Given the description of an element on the screen output the (x, y) to click on. 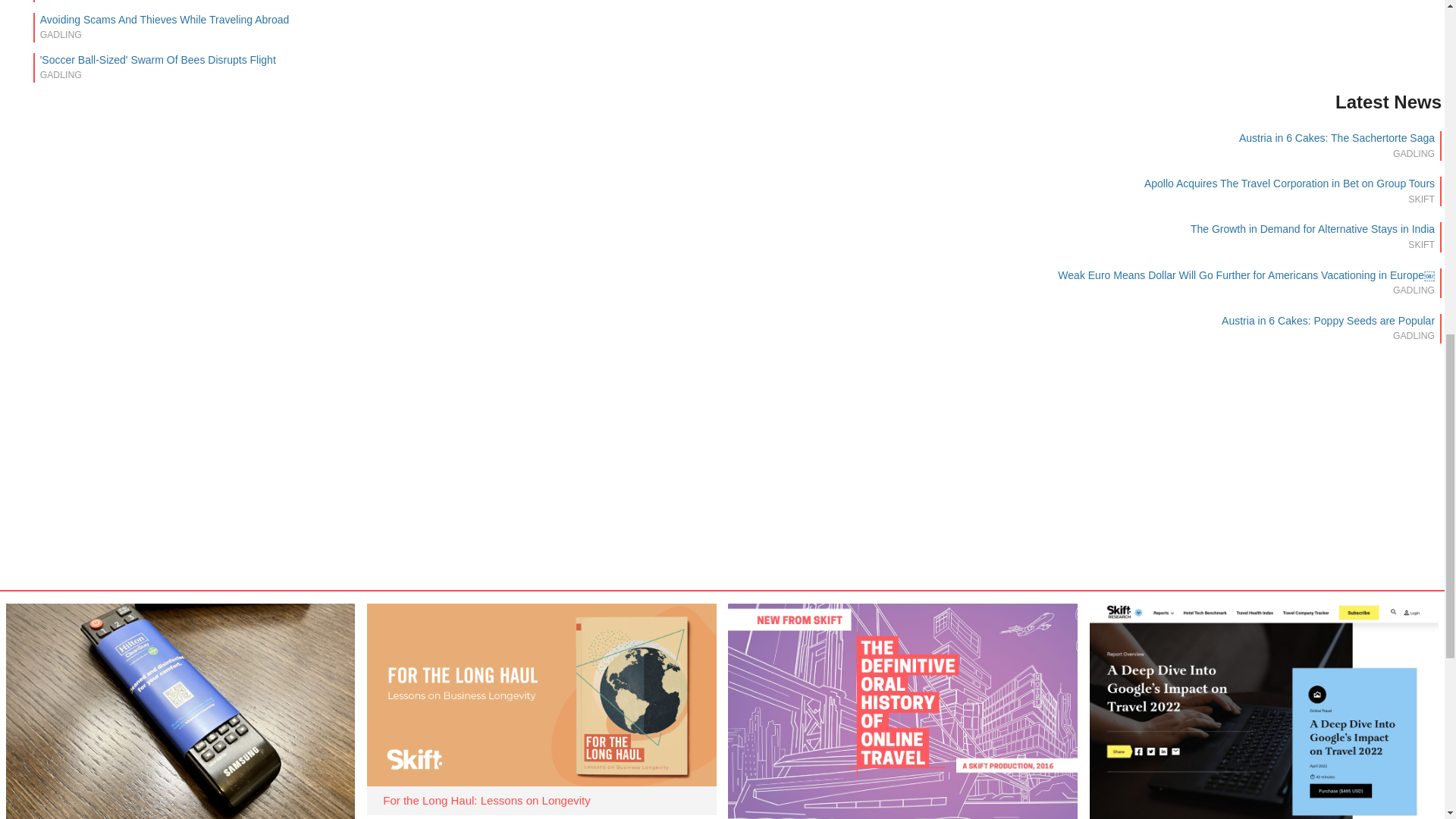
The Growth in Demand for Alternative Stays in India (1312, 228)
Apollo Acquires The Travel Corporation in Bet on Group Tours (1289, 183)
Austria in 6 Cakes: Poppy Seeds are Popular (1327, 320)
Austria in 6 Cakes: The Sachertorte Saga (1336, 137)
